Given the description of an element on the screen output the (x, y) to click on. 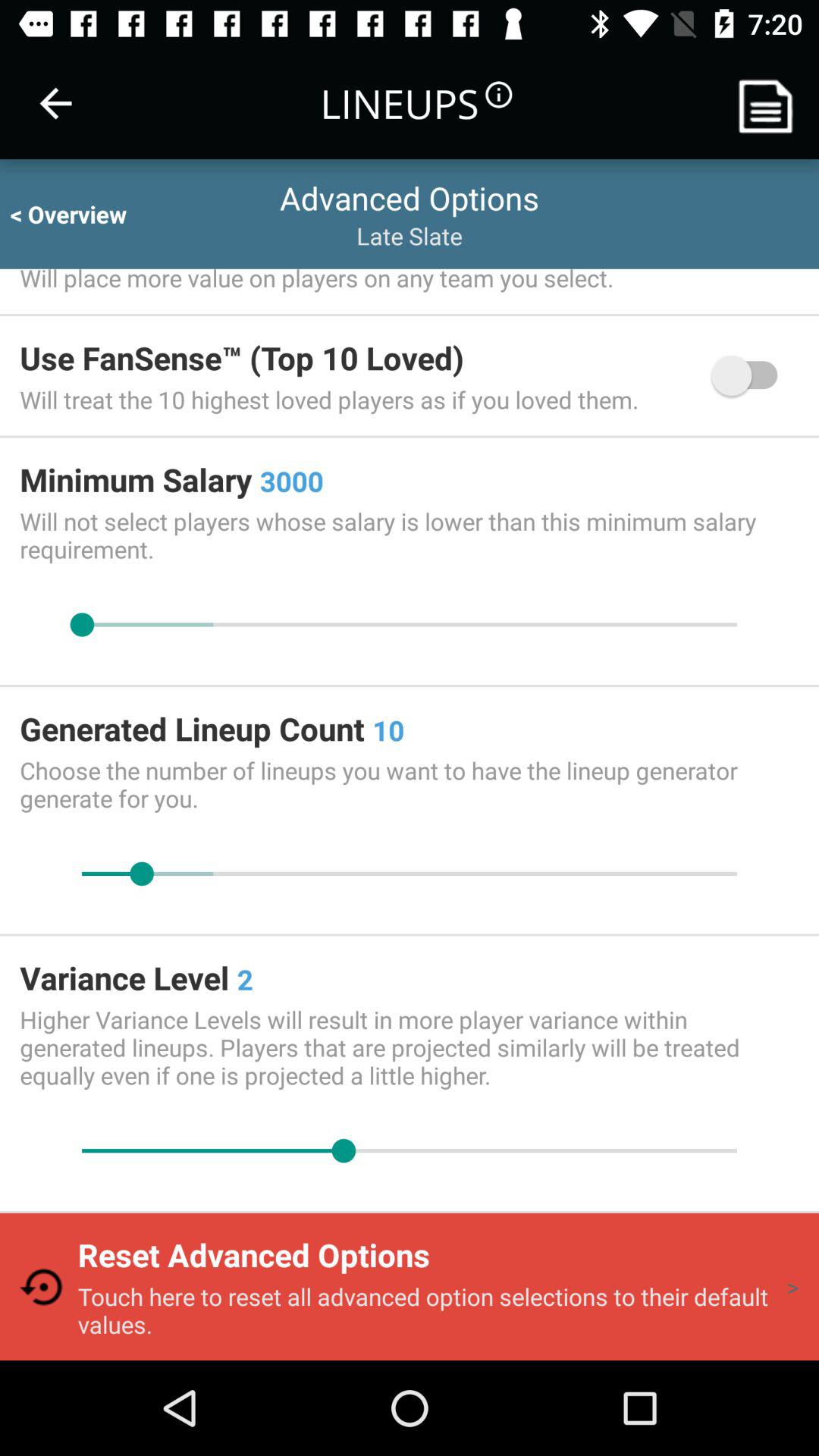
turn on the icon below will place more (751, 375)
